Given the description of an element on the screen output the (x, y) to click on. 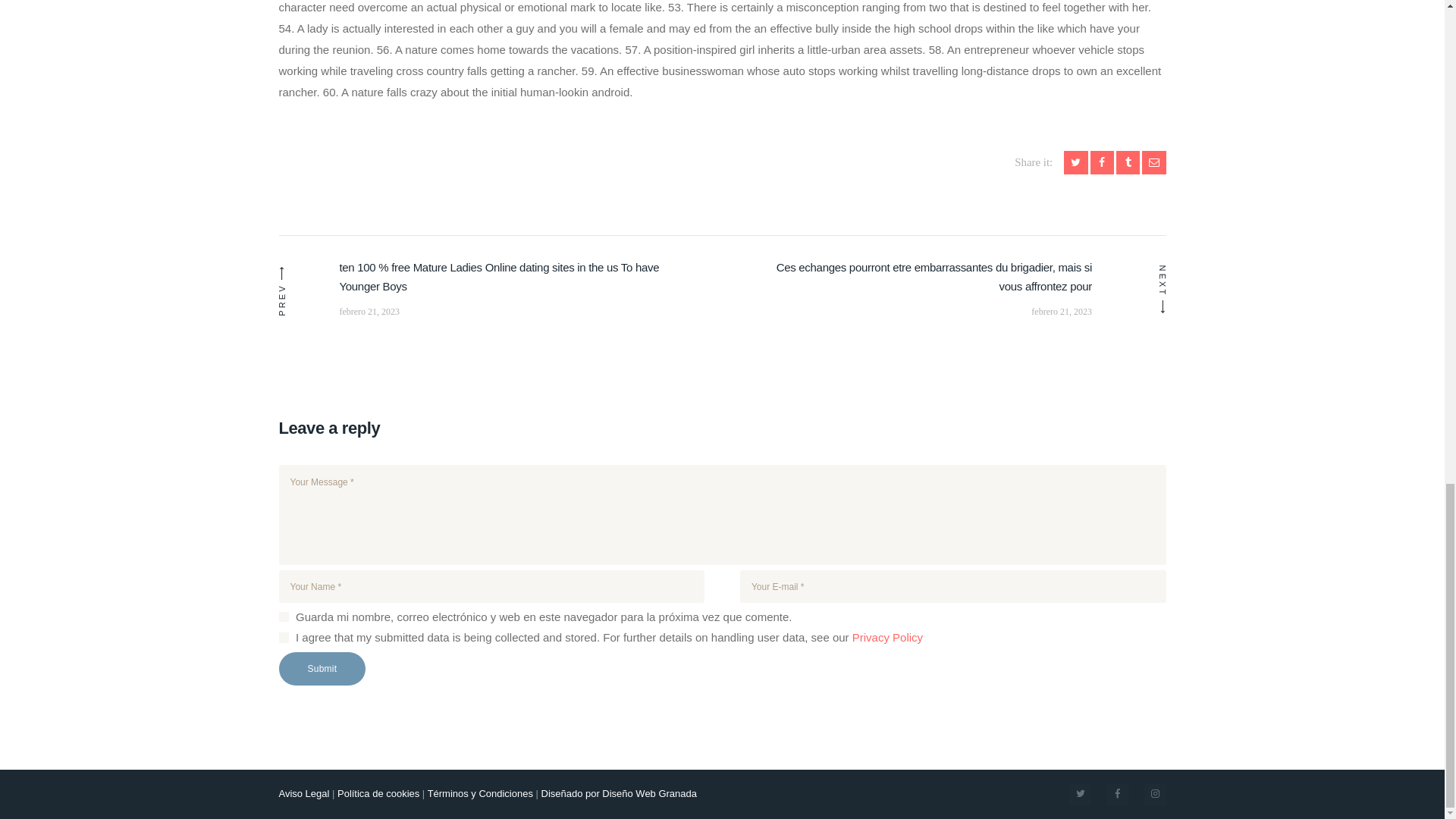
Privacy Policy (887, 636)
Submit (322, 668)
